Given the description of an element on the screen output the (x, y) to click on. 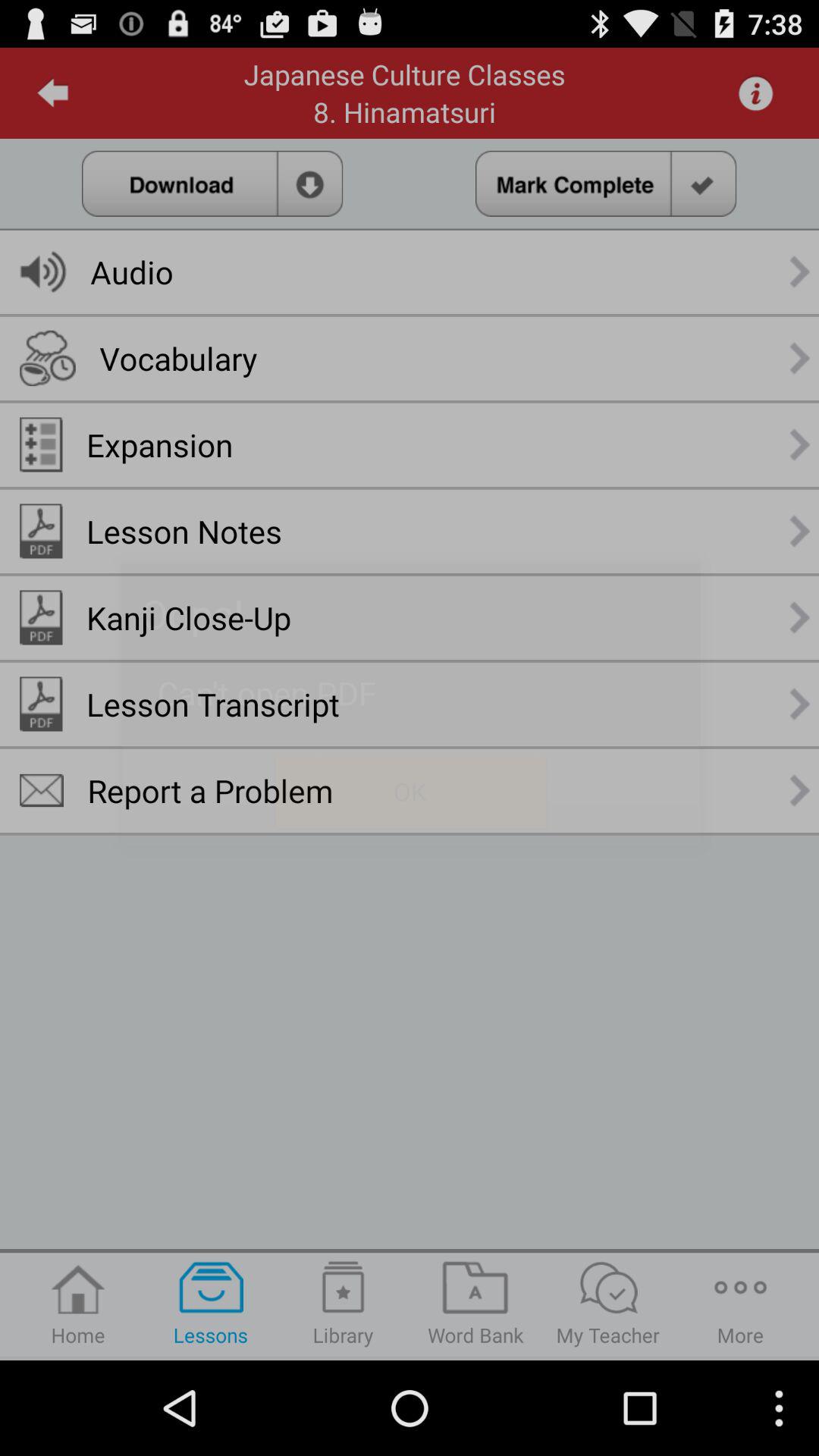
click the item below audio app (178, 358)
